Given the description of an element on the screen output the (x, y) to click on. 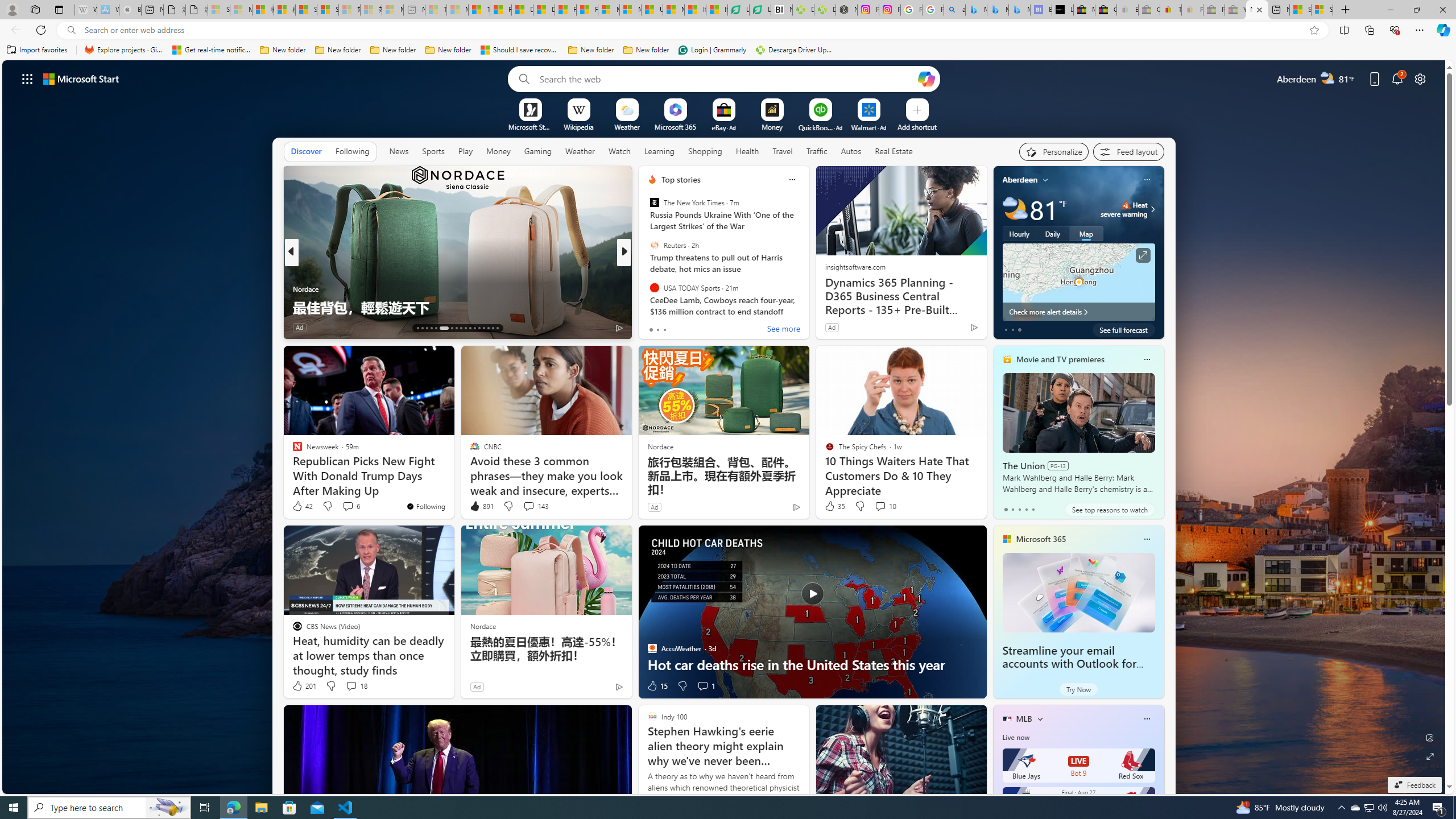
Edit Background (1430, 737)
View comments 7 Comment (702, 327)
MLB (1024, 718)
Drinking tea every day is proven to delay biological aging (543, 9)
13 Tips to Get a Raise (807, 307)
tab-4 (1032, 509)
IT Concept (658, 288)
AutomationID: tab-18 (443, 328)
View comments 3 Comment (703, 327)
